Given the description of an element on the screen output the (x, y) to click on. 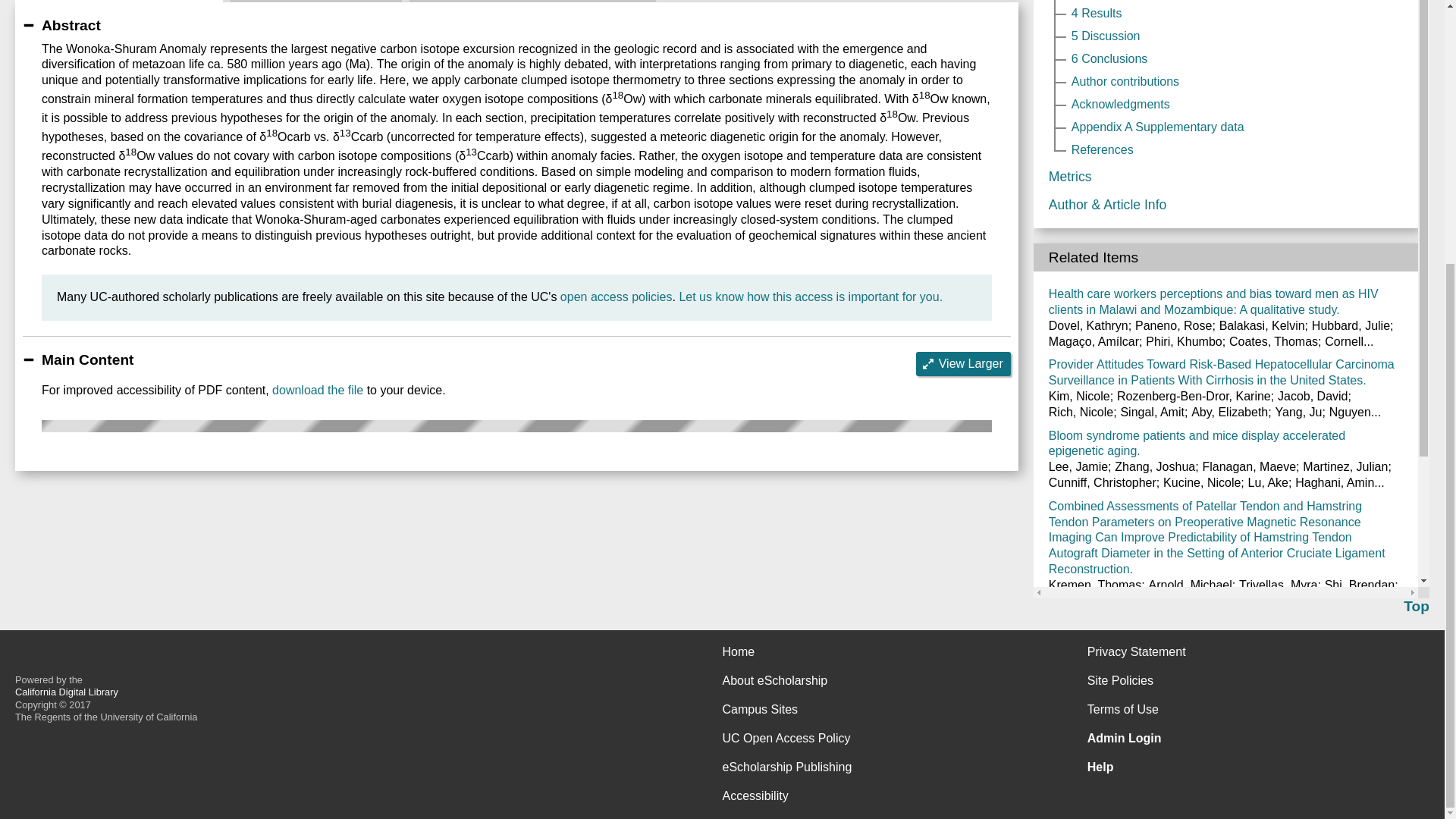
open access policies (616, 296)
Main Content (118, 1)
Let us know how this access is important for you. (810, 296)
Metrics (315, 1)
